Given the description of an element on the screen output the (x, y) to click on. 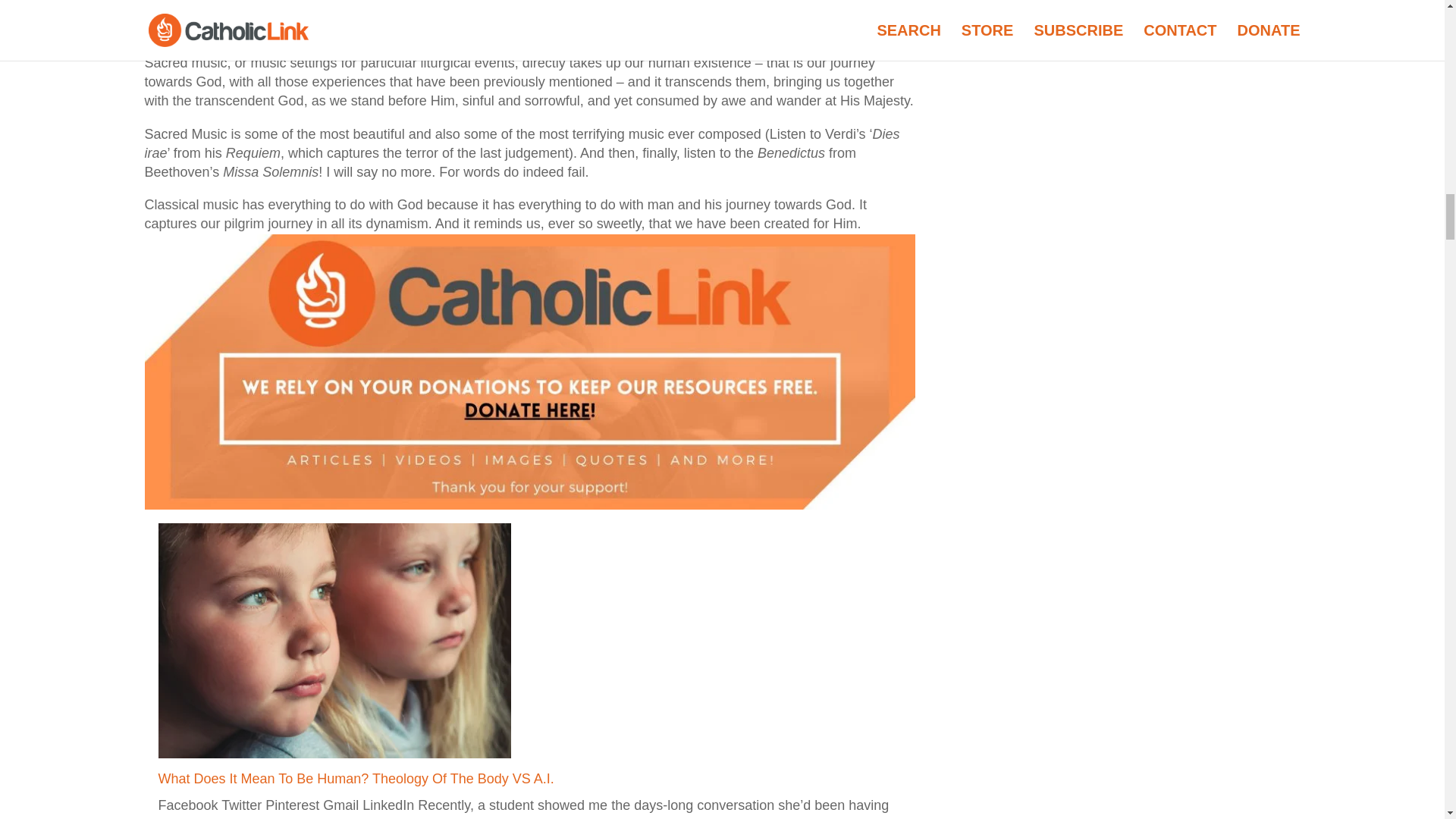
What Does It Mean To Be Human? Theology Of The Body VS A.I.  (357, 778)
